Given the description of an element on the screen output the (x, y) to click on. 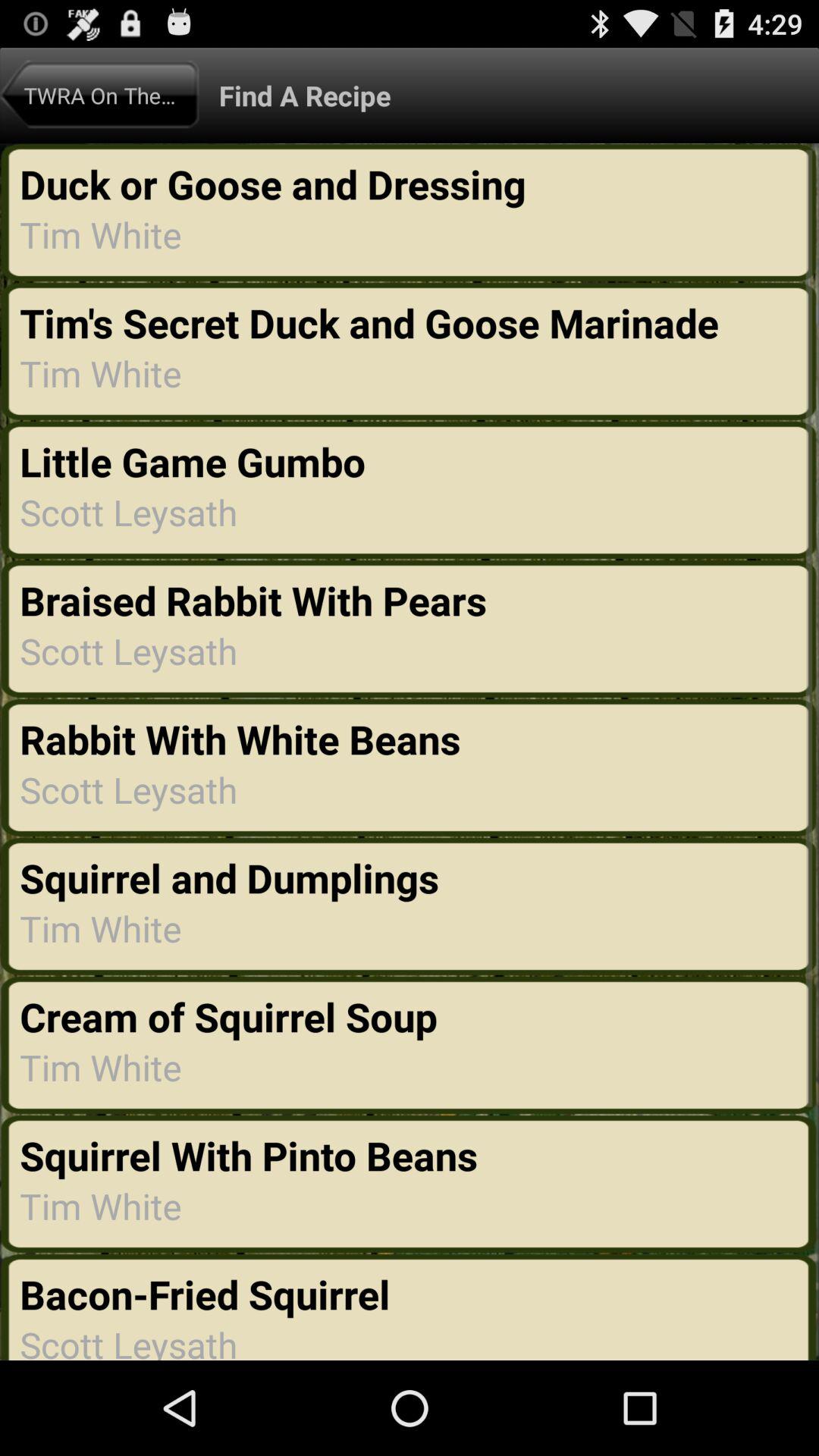
press the item below the tim white  item (248, 1154)
